Given the description of an element on the screen output the (x, y) to click on. 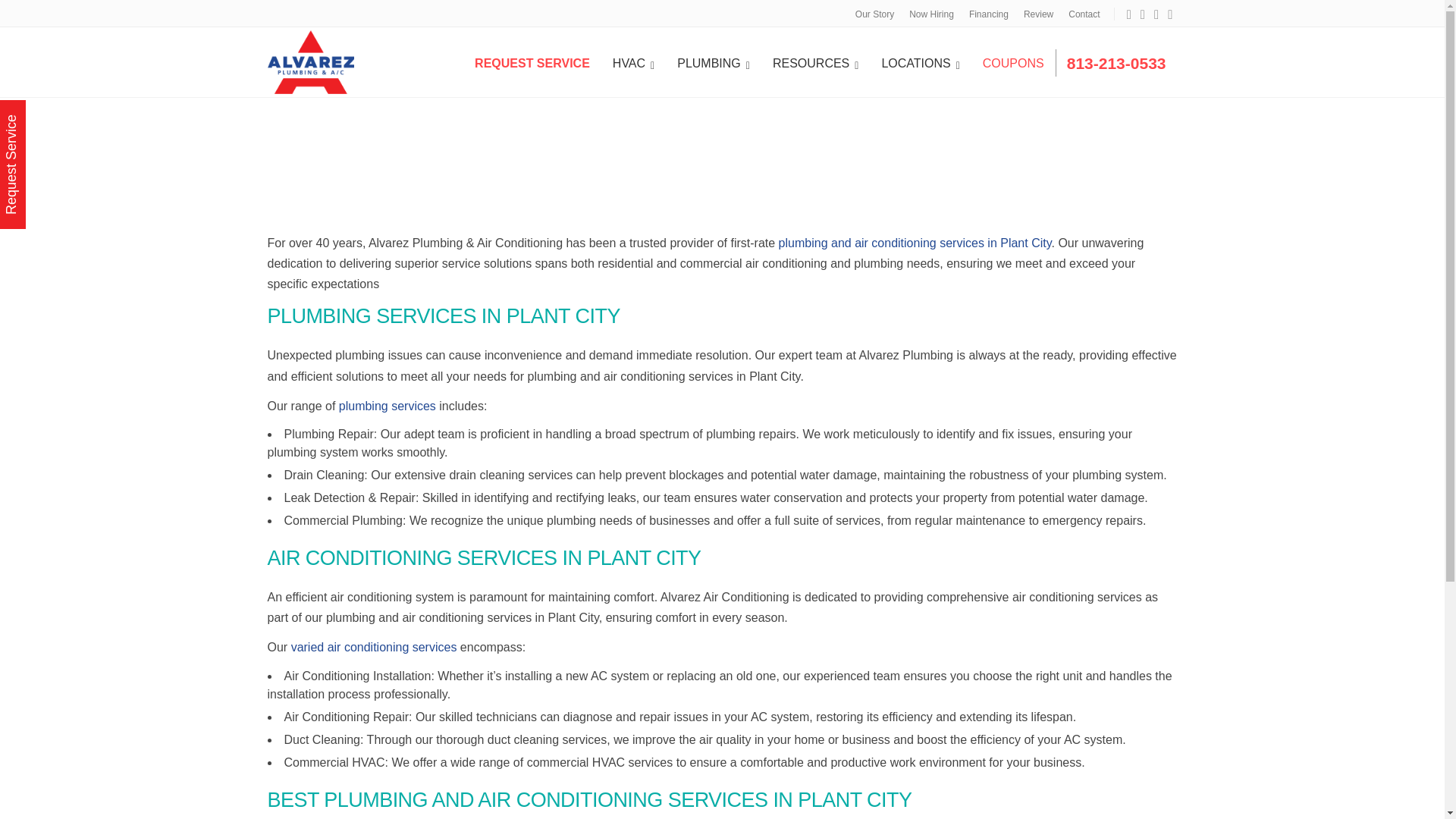
PLUMBING (713, 62)
REQUEST SERVICE (532, 62)
Contact (1083, 14)
Review (1038, 14)
HVAC (633, 62)
Financing (988, 14)
Our Story (874, 14)
Now Hiring (930, 14)
